Given the description of an element on the screen output the (x, y) to click on. 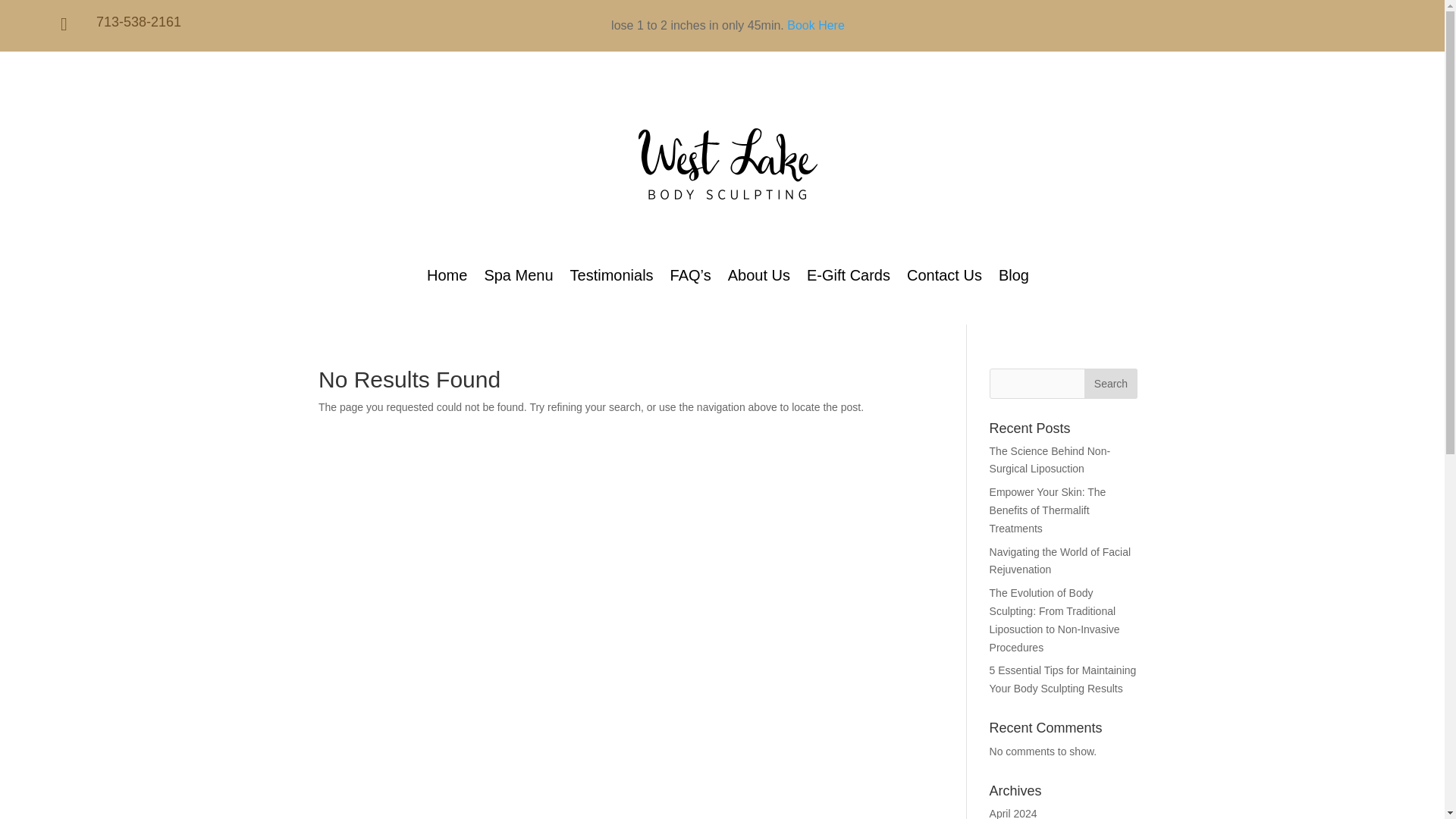
Home (446, 278)
Spa Menu (518, 278)
Contact Us (944, 278)
Search (1110, 383)
Empower Your Skin: The Benefits of Thermalift Treatments (1048, 510)
The Science Behind Non-Surgical Liposuction (1050, 460)
5 Essential Tips for Maintaining Your Body Sculpting Results (1063, 679)
April 2024 (1013, 813)
About Us (759, 278)
E-Gift Cards (847, 278)
713-538-2161 (138, 21)
Navigating the World of Facial Rejuvenation (1060, 561)
Blog (1013, 278)
Book Here (815, 24)
Testimonials (611, 278)
